Given the description of an element on the screen output the (x, y) to click on. 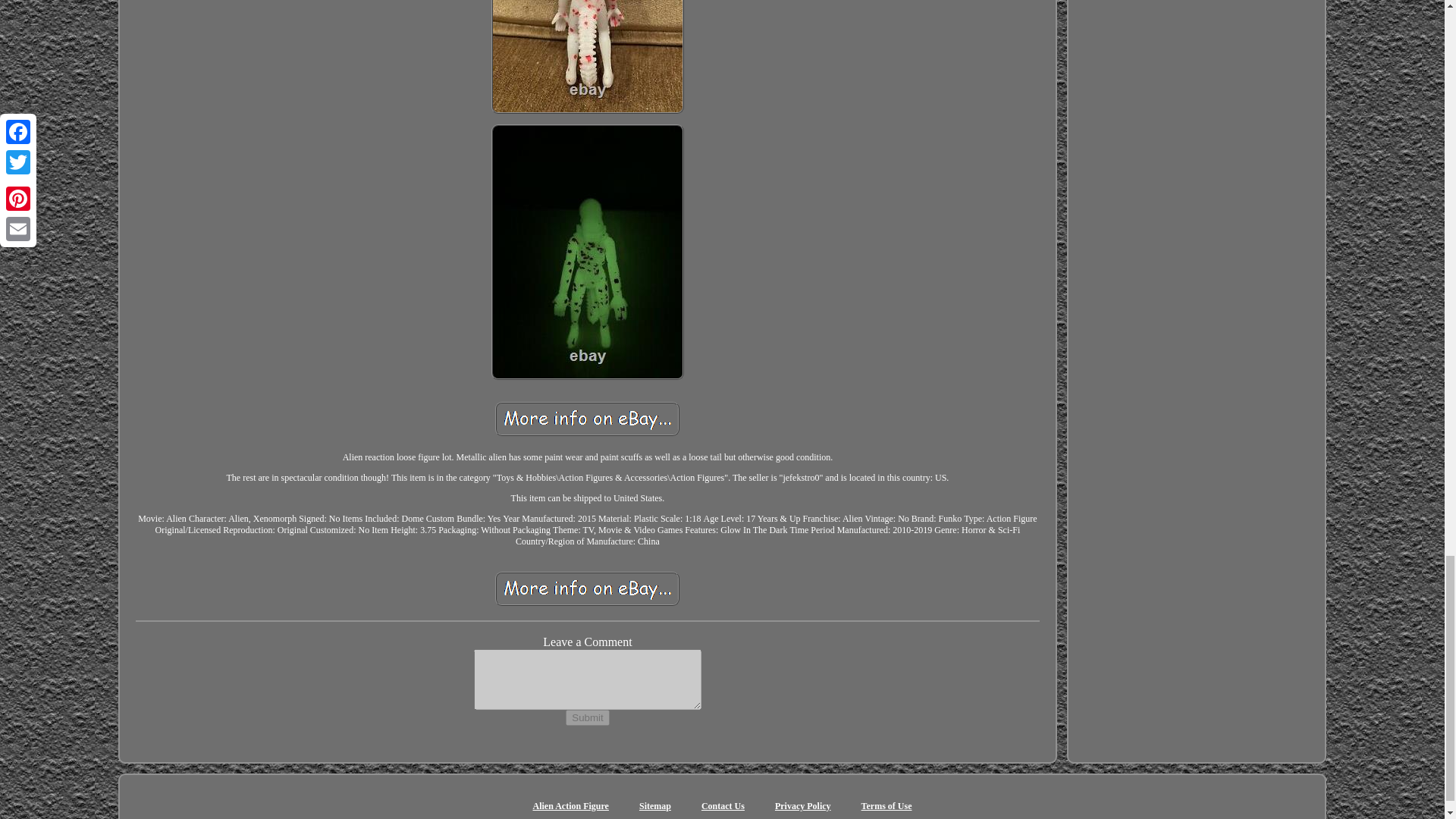
Alien reaction loose figure lot (587, 588)
Alien reaction loose figure lot (587, 418)
Alien reaction loose figure lot (588, 56)
